Given the description of an element on the screen output the (x, y) to click on. 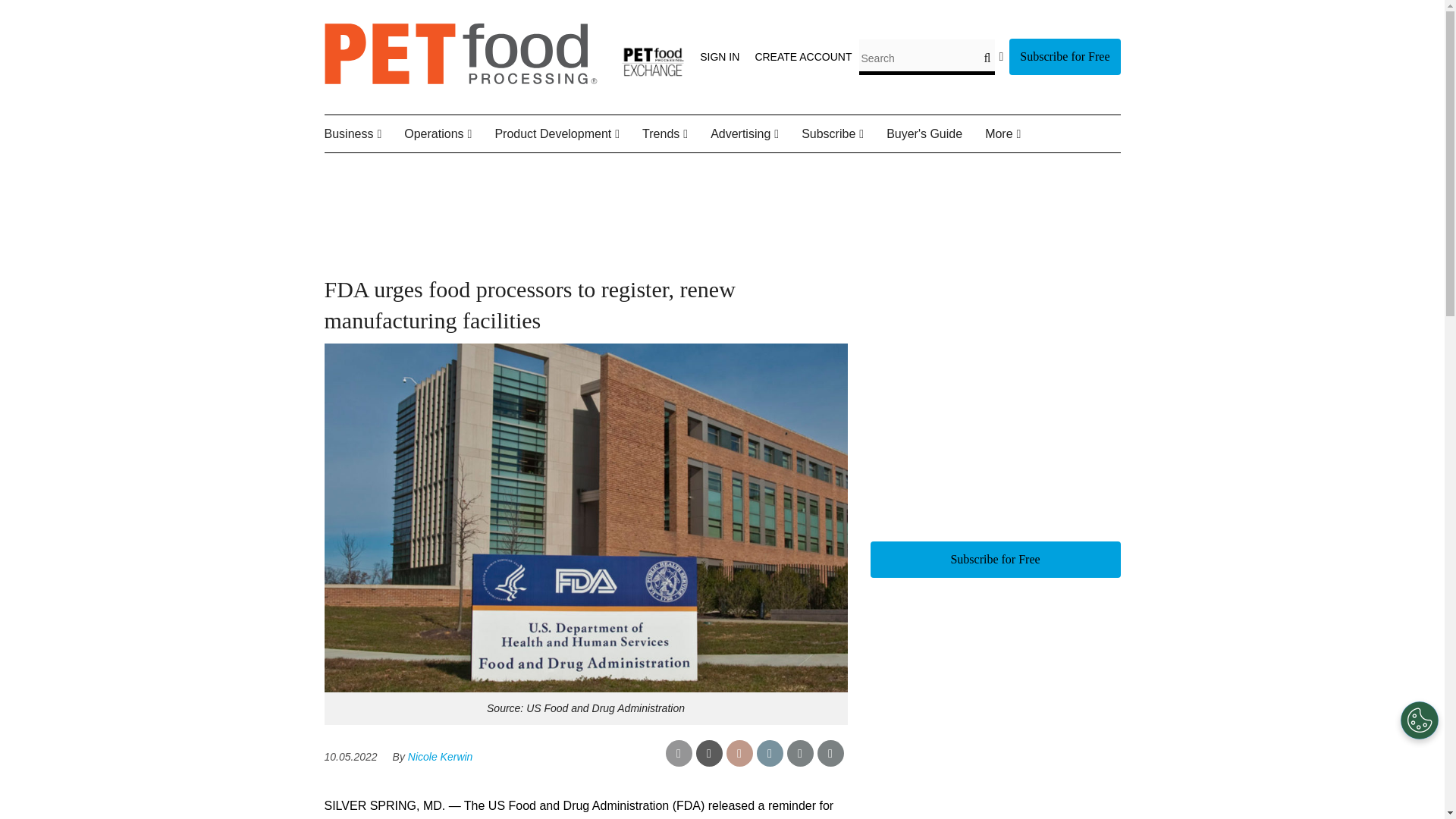
Petfood Processing (460, 80)
Cookies Settings (1419, 720)
